Given the description of an element on the screen output the (x, y) to click on. 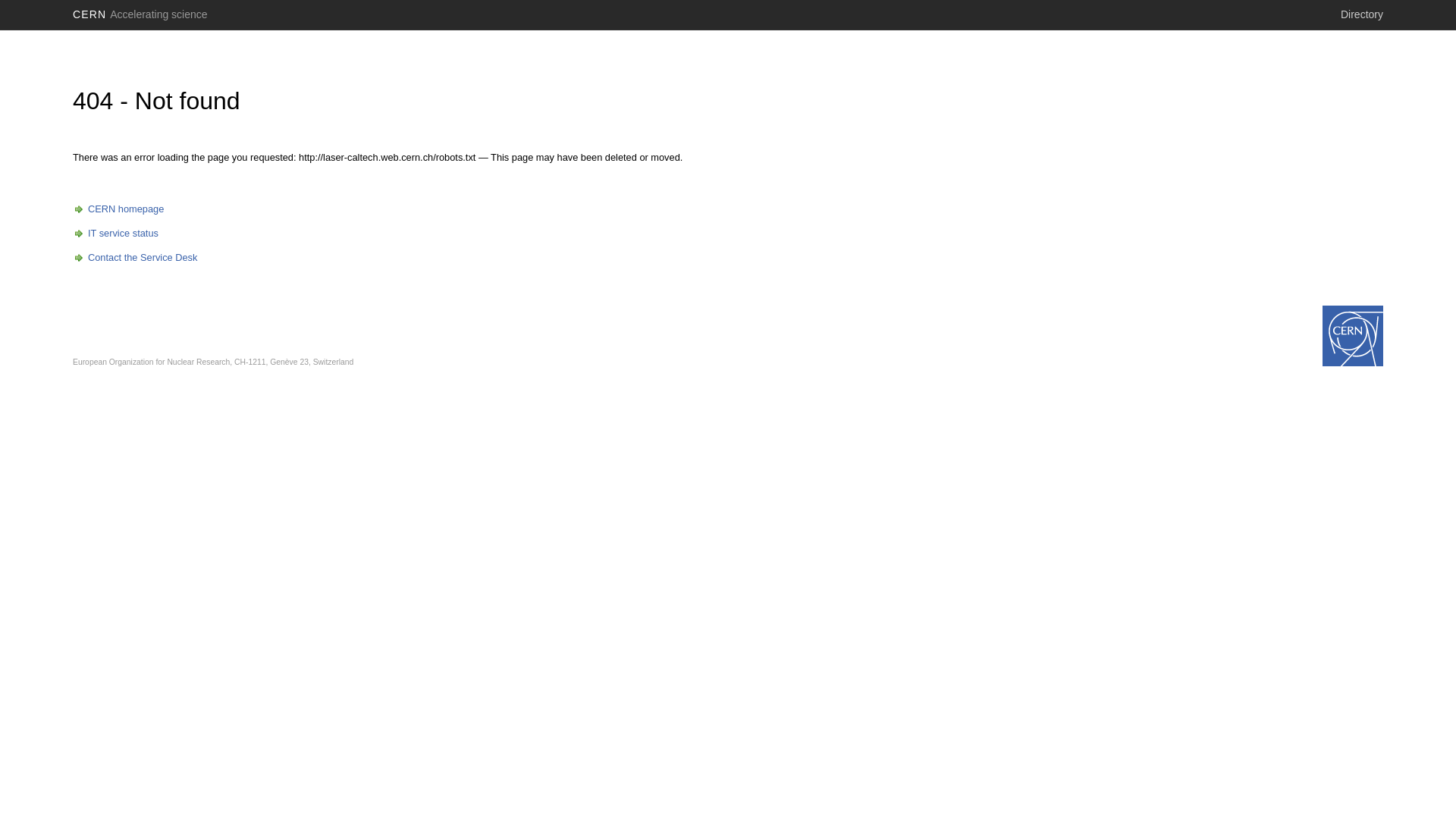
Contact the Service Desk Element type: text (134, 257)
Directory Element type: text (1361, 14)
IT service status Element type: text (115, 232)
CERN homepage Element type: text (117, 208)
www.cern.ch Element type: hover (1352, 335)
CERN Accelerating science Element type: text (139, 14)
